Given the description of an element on the screen output the (x, y) to click on. 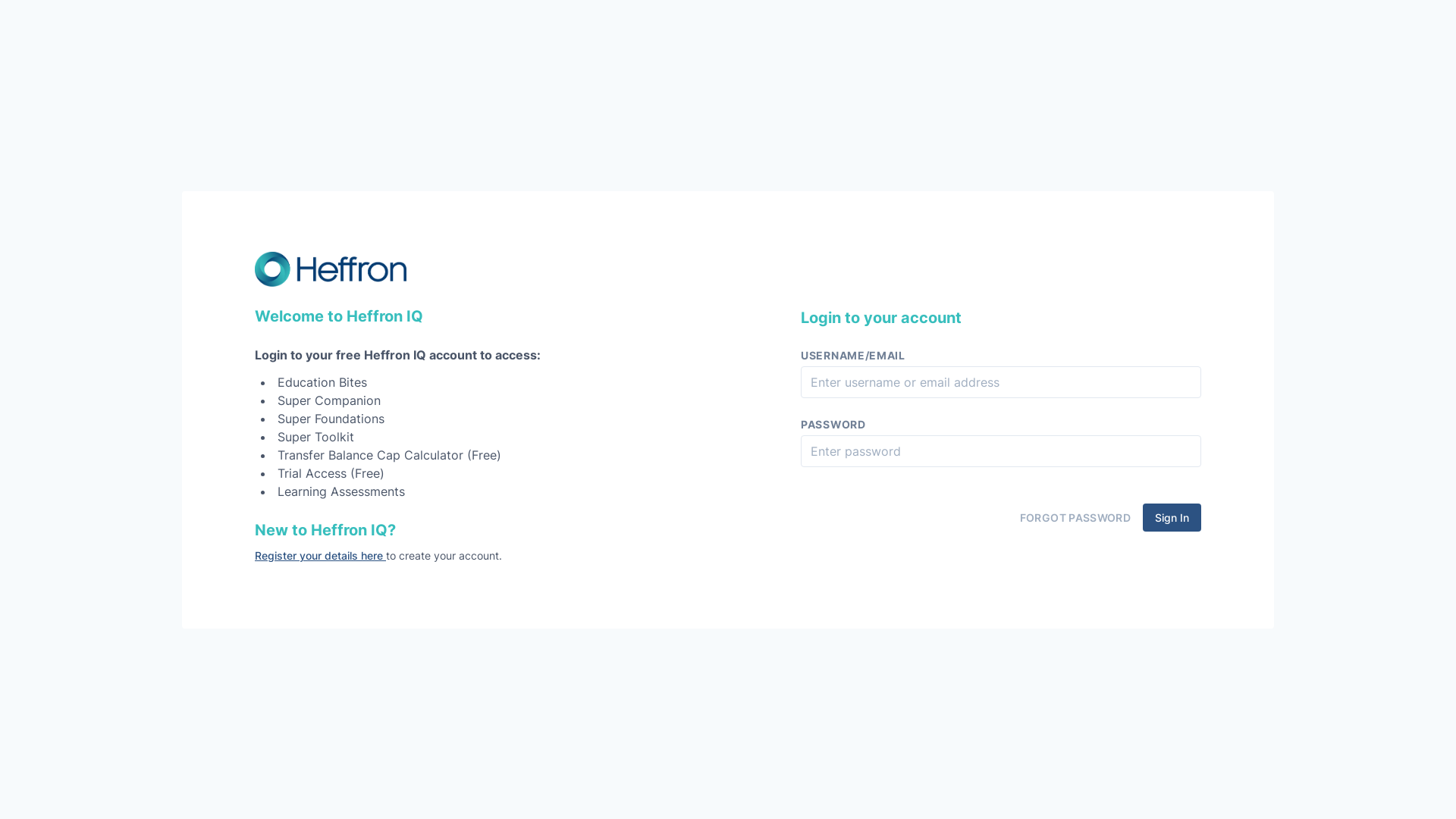
Register your details here Element type: text (319, 555)
Sign In Element type: text (1171, 517)
FORGOT PASSWORD Element type: text (1074, 517)
